Given the description of an element on the screen output the (x, y) to click on. 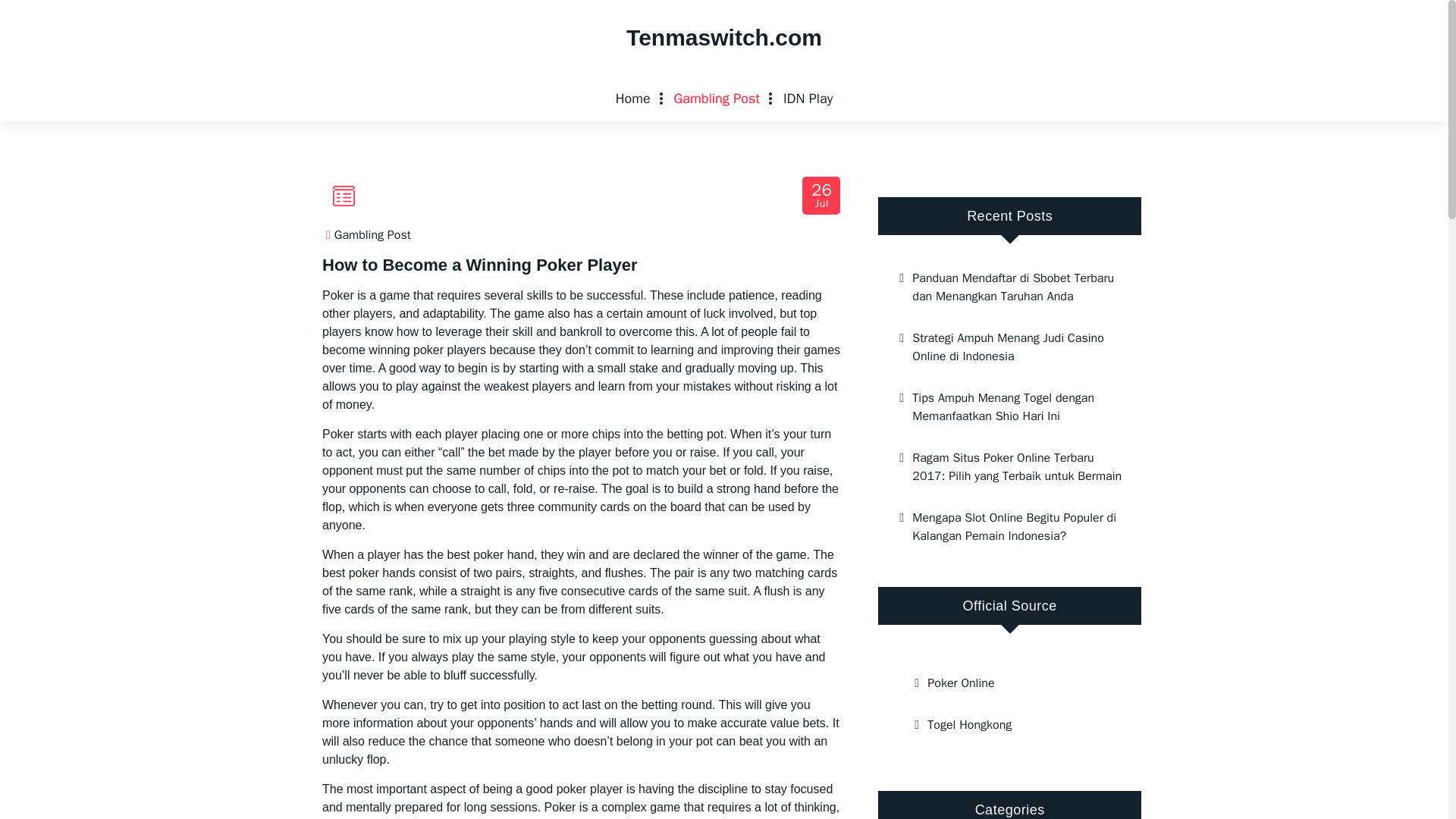
Home (633, 98)
IDN Play (807, 98)
IDN Play (807, 98)
Togel Hongkong (1009, 724)
Strategi Ampuh Menang Judi Casino Online di Indonesia (821, 195)
Tips Ampuh Menang Togel dengan Memanfaatkan Shio Hari Ini (1009, 346)
Gambling Post (1009, 406)
